Given the description of an element on the screen output the (x, y) to click on. 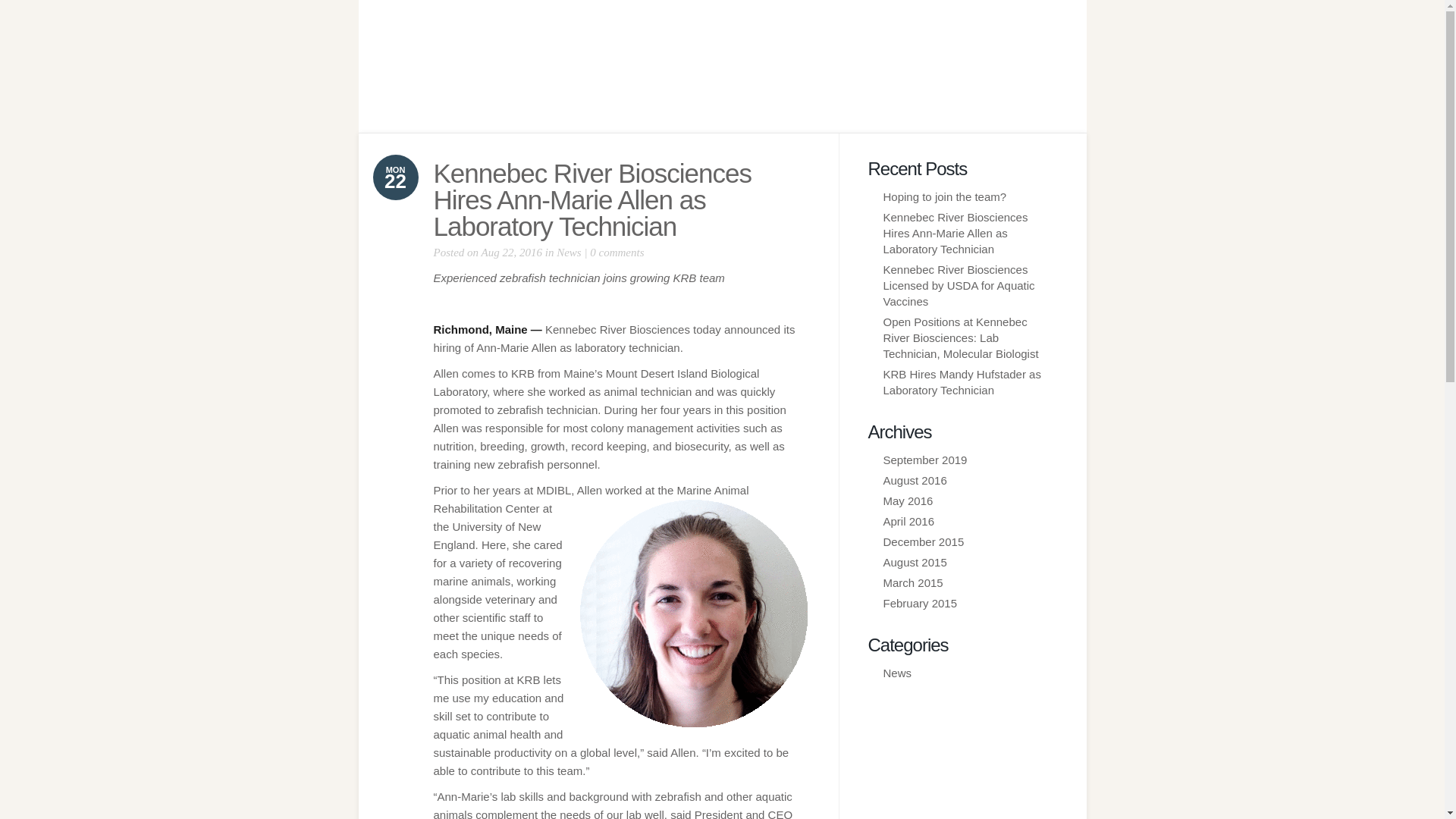
September 2019 (924, 459)
News (896, 672)
August 2015 (914, 562)
Hoping to join the team? (944, 196)
0 comments (616, 252)
May 2016 (907, 500)
KRB Hires Mandy Hufstader as Laboratory Technician (961, 381)
August 2016 (914, 480)
April 2016 (908, 521)
